Given the description of an element on the screen output the (x, y) to click on. 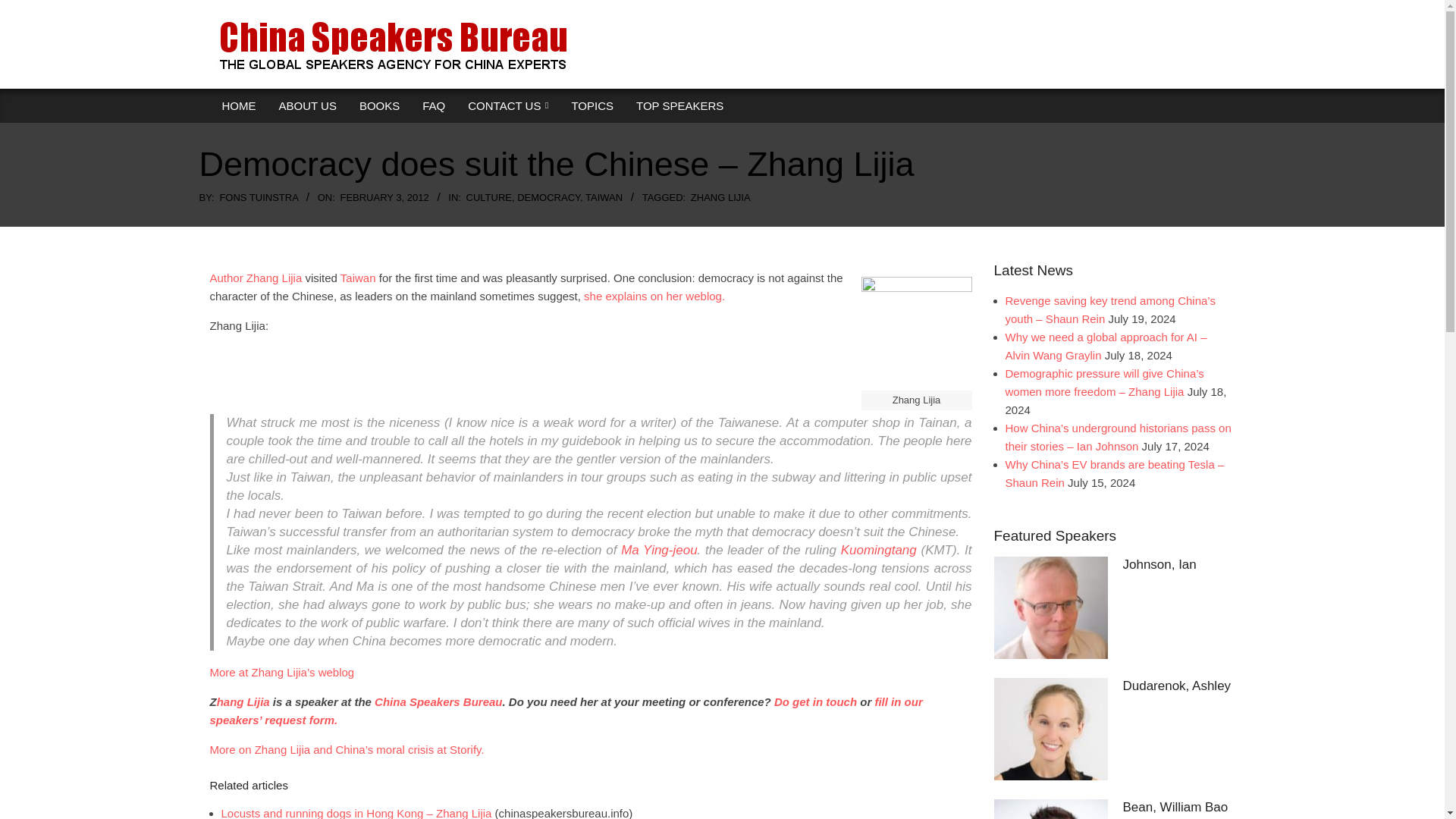
TAIWAN (604, 197)
CULTURE (488, 197)
HOME (239, 105)
Ma Ying-jeou (659, 549)
Posts by Fons Tuinstra (258, 197)
Kuomintang (879, 549)
ZHANG LIJIA (720, 197)
Friday, February 3, 2012, 8:46 am (383, 197)
Taiwan (357, 277)
Taiwan (357, 277)
Kuomingtang (879, 549)
DEMOCRACY (547, 197)
TOPICS (591, 105)
ABOUT US (306, 105)
CONTACT US (508, 105)
